Given the description of an element on the screen output the (x, y) to click on. 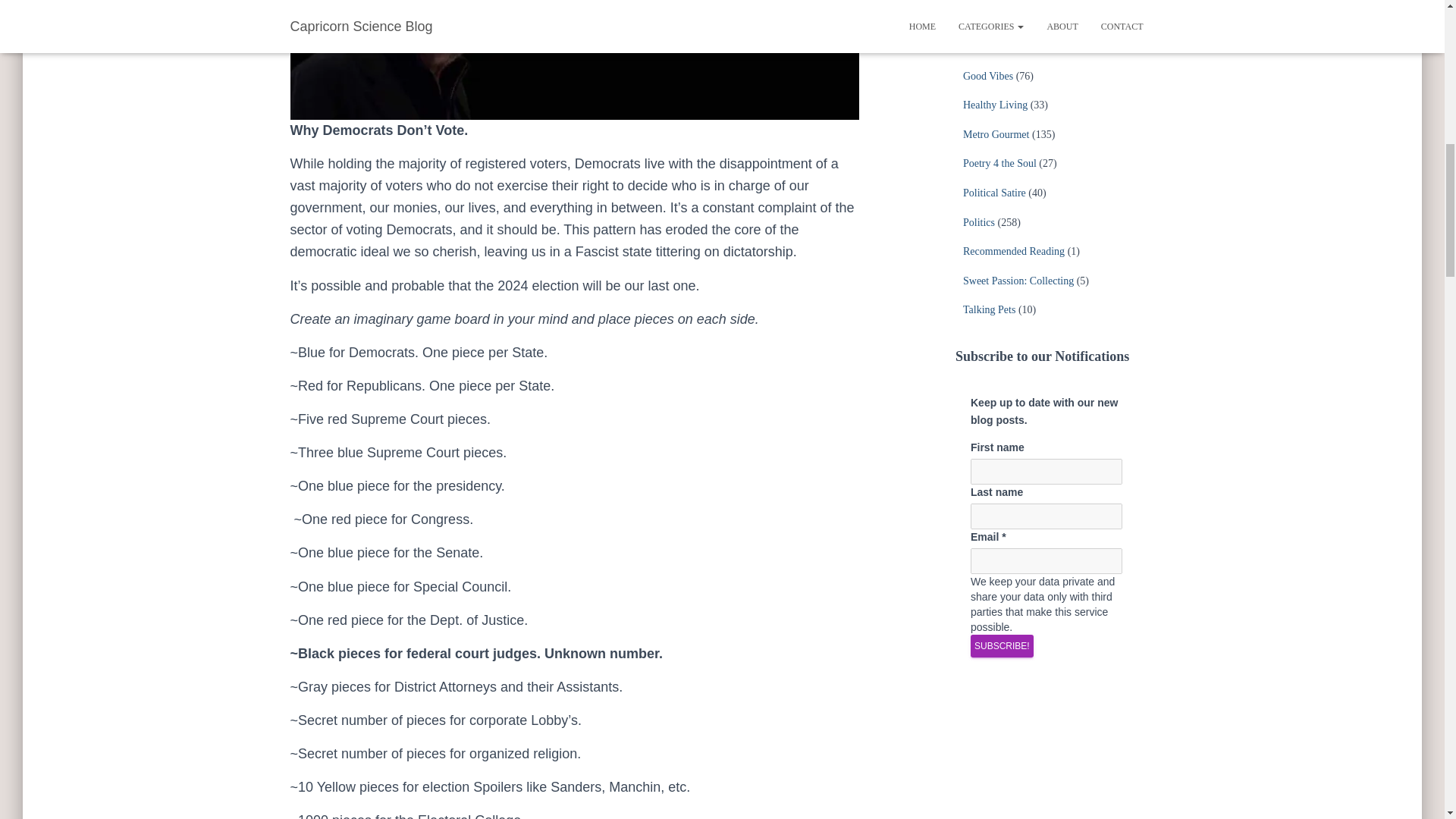
Funky Wonky (992, 16)
Subscribe! (1002, 645)
Funny Bunny Memes (1008, 46)
